Given the description of an element on the screen output the (x, y) to click on. 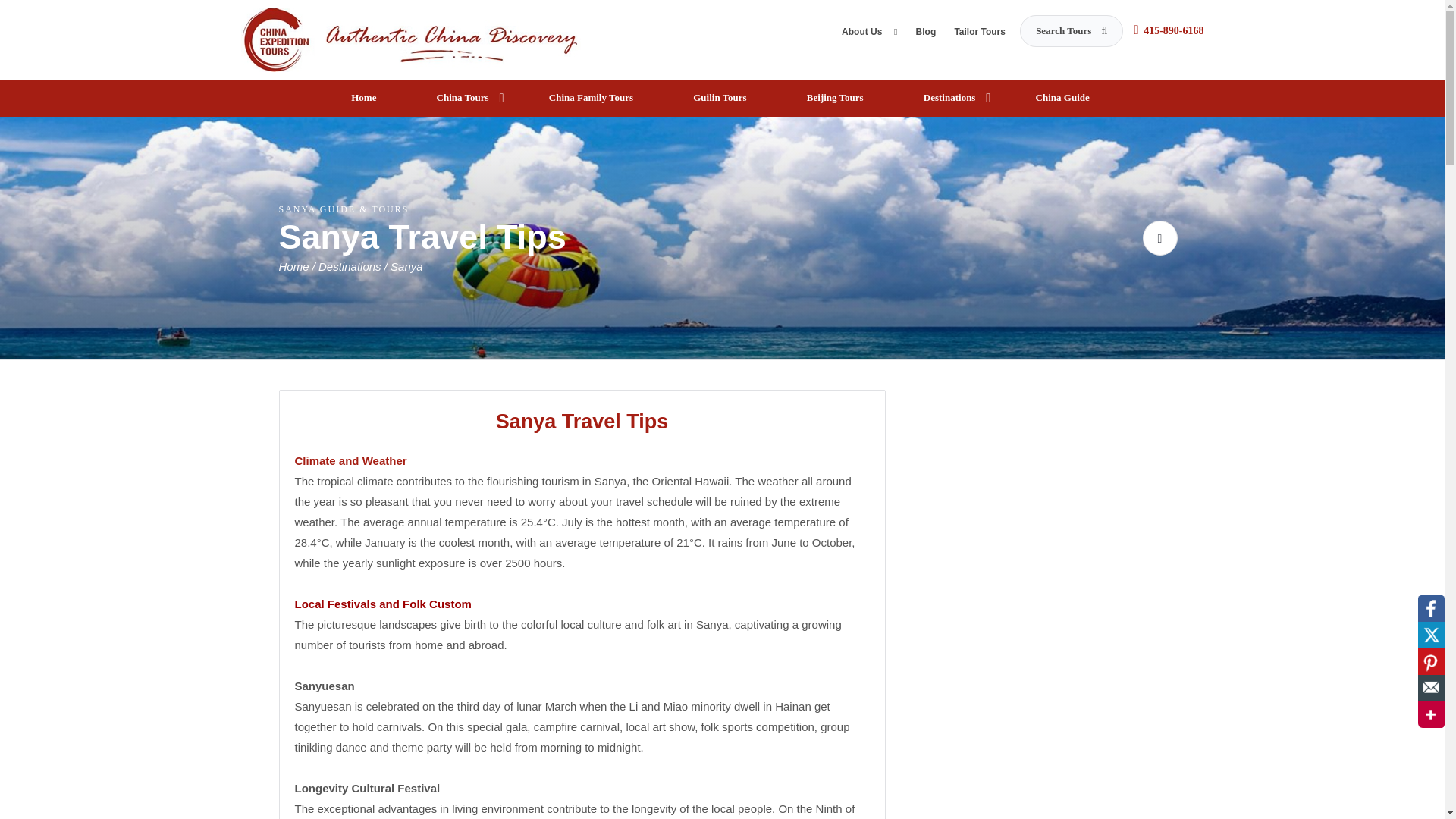
Tailor Tours (979, 34)
About Us (868, 34)
Destinations (351, 266)
Home (365, 98)
Blog (925, 34)
415-890-6168 (1173, 30)
Sanya (406, 266)
China Tours (410, 38)
Search Tours (1071, 30)
China Tours (465, 98)
